Given the description of an element on the screen output the (x, y) to click on. 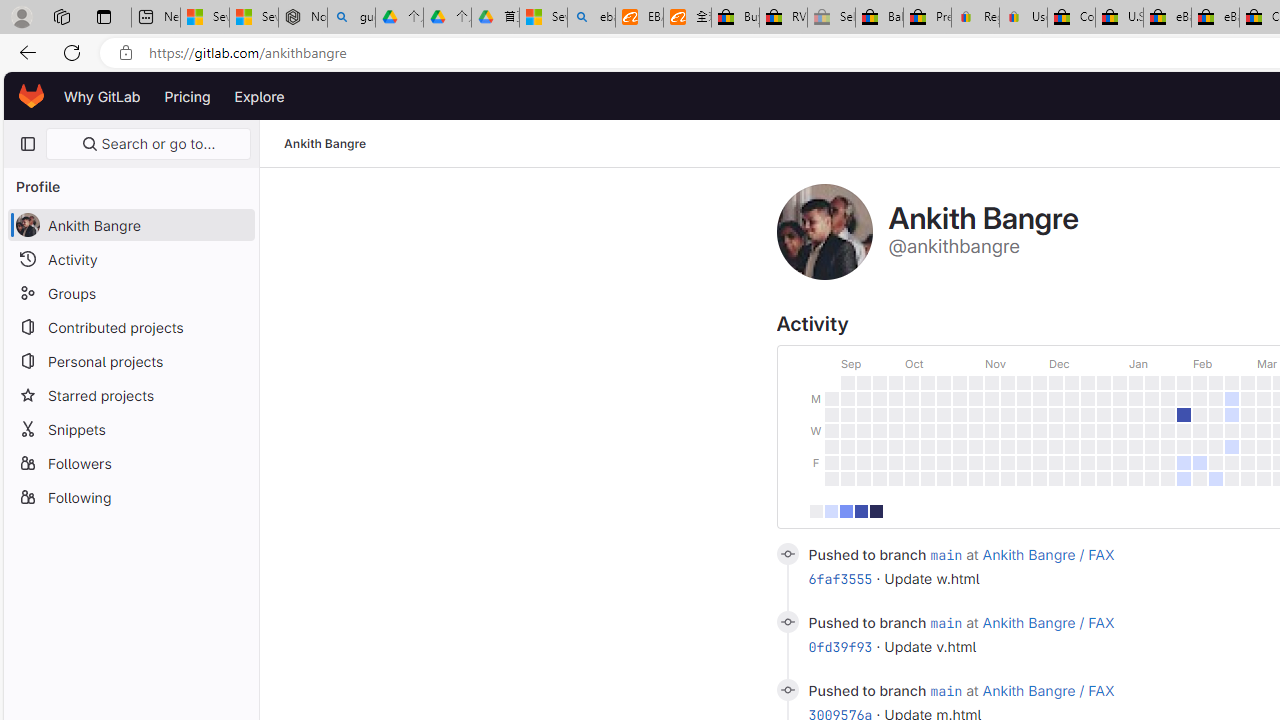
Groups (130, 292)
Why GitLab (102, 95)
Activity (130, 259)
